Given the description of an element on the screen output the (x, y) to click on. 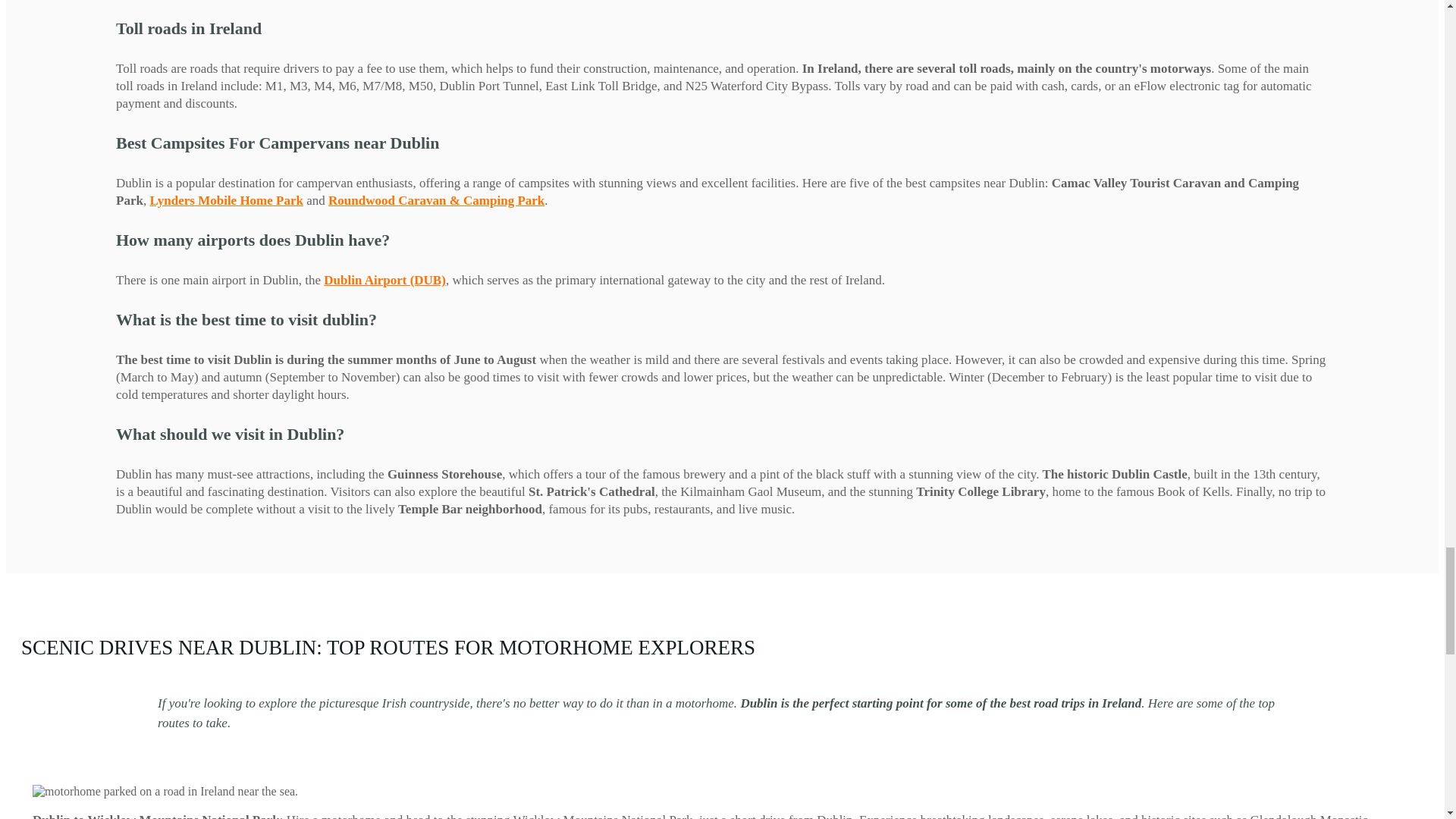
Lynders Mobile Home Park (225, 200)
